Given the description of an element on the screen output the (x, y) to click on. 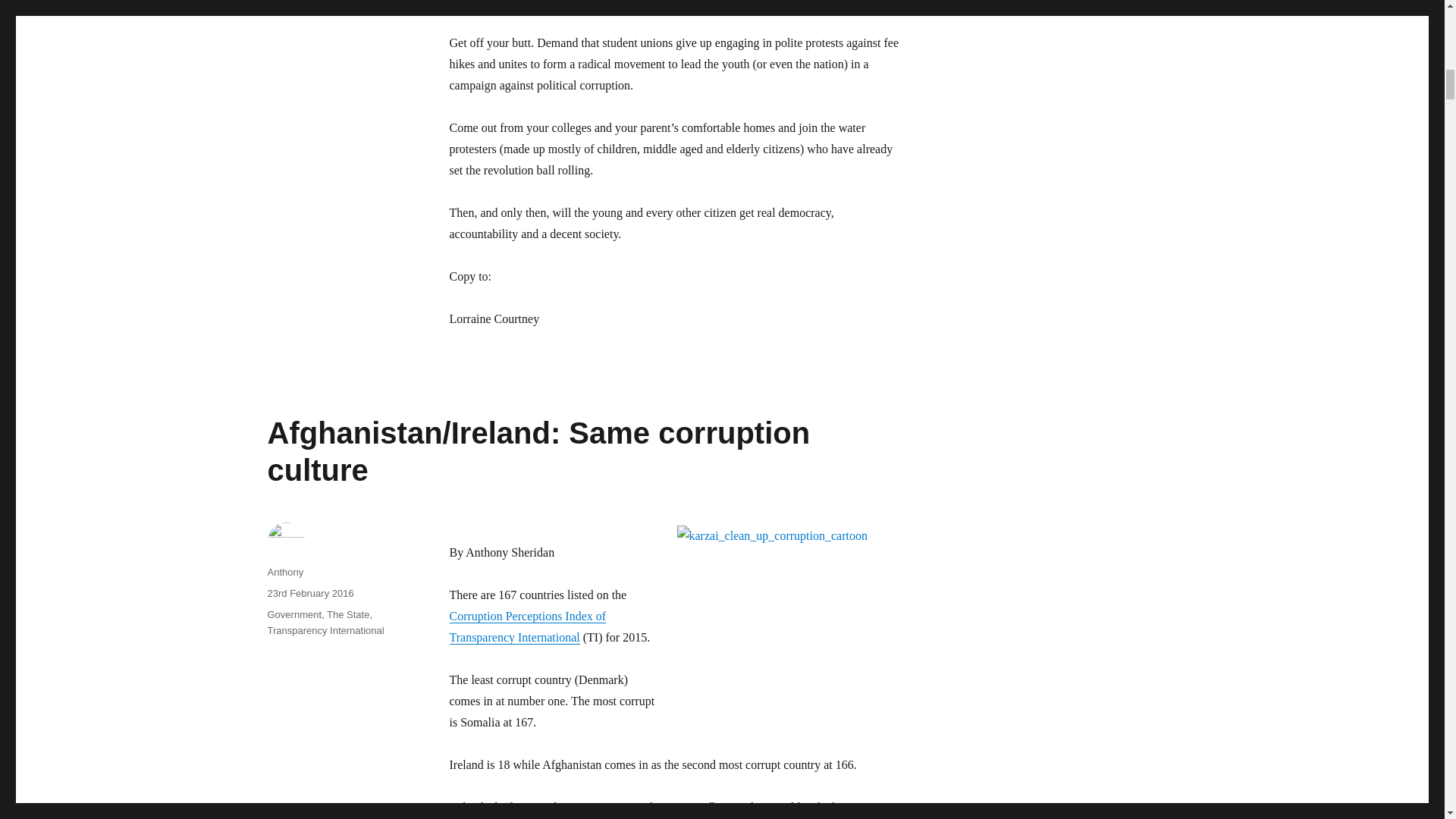
23rd February 2016 (309, 593)
Transparency International (325, 630)
The State (347, 614)
Anthony (284, 572)
Government (293, 614)
Corruption Perceptions Index of Transparency International (526, 626)
